Given the description of an element on the screen output the (x, y) to click on. 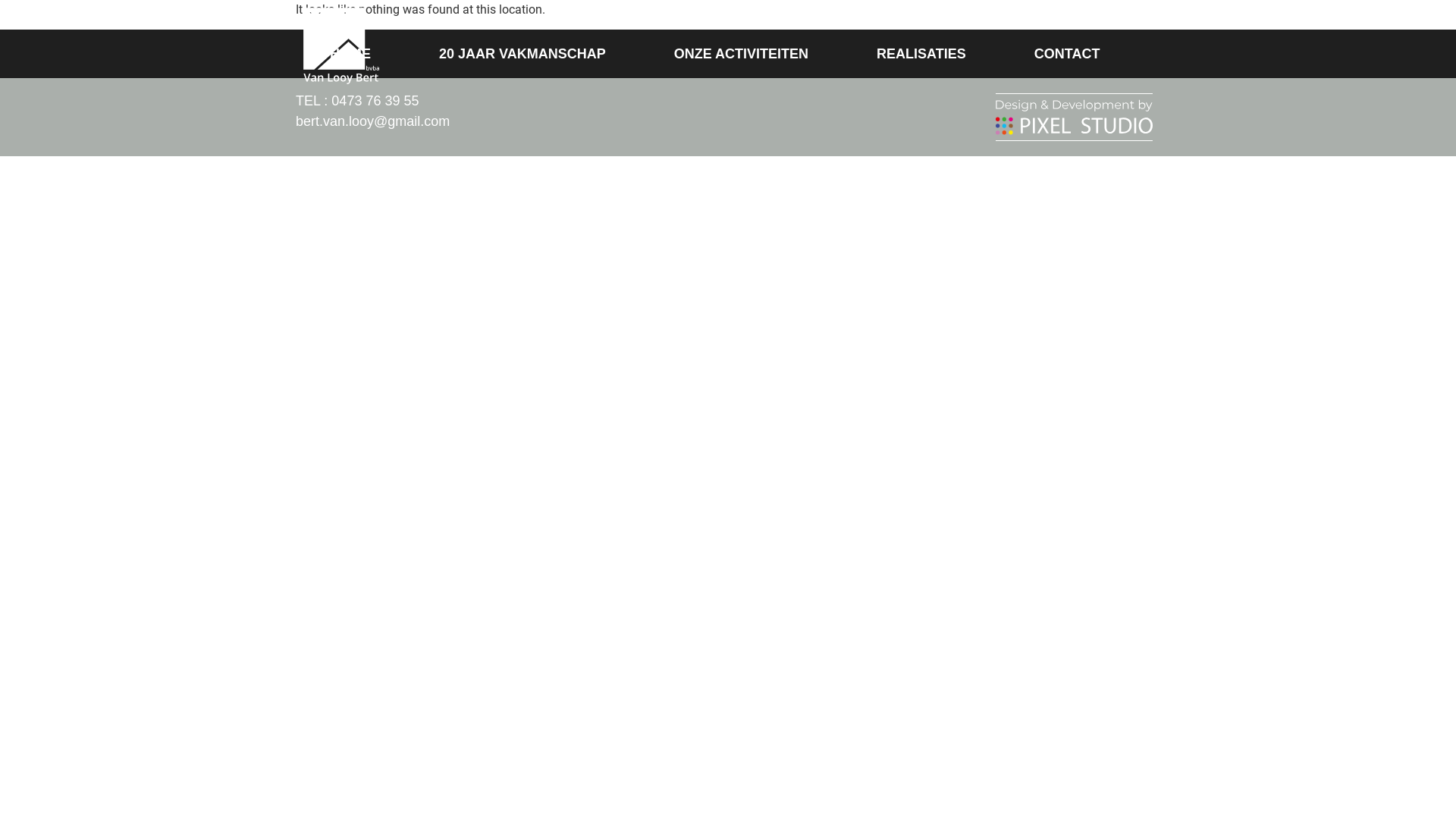
HOME Element type: text (350, 53)
ONZE ACTIVITEITEN Element type: text (881, 24)
CONTACT Element type: text (1066, 53)
0473 76 39 55 Element type: text (374, 100)
20 JAAR VAKMANSCHAP Element type: text (720, 24)
ONZE ACTIVITEITEN Element type: text (740, 53)
REALISATIES Element type: text (921, 53)
REALISATIES Element type: text (1010, 24)
CONTACT Element type: text (1108, 24)
20 JAAR VAKMANSCHAP Element type: text (522, 53)
HOME Element type: text (600, 24)
bert.van.looy@gmail.com Element type: text (372, 120)
